Given the description of an element on the screen output the (x, y) to click on. 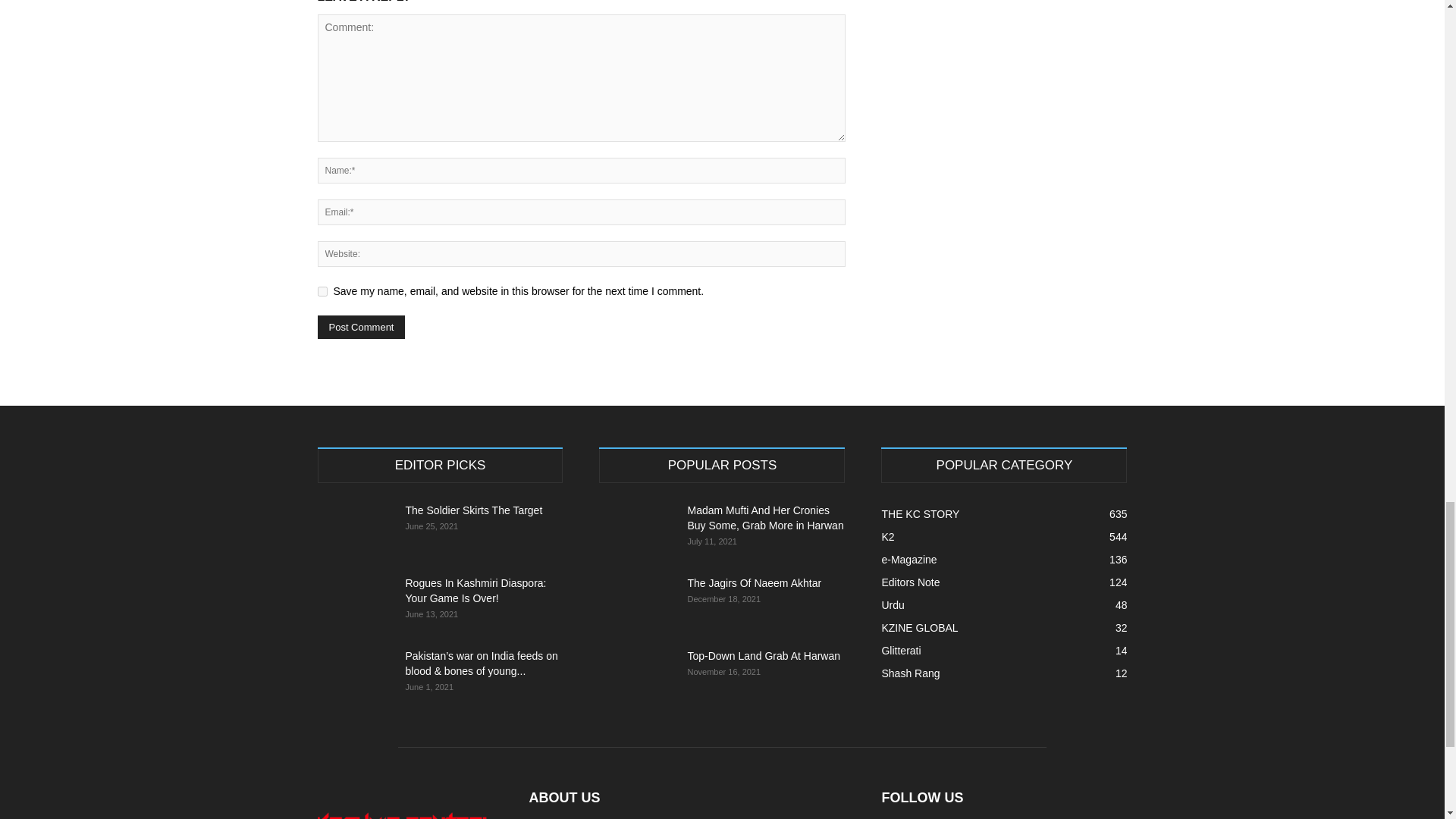
Post Comment (360, 327)
yes (321, 291)
